Given the description of an element on the screen output the (x, y) to click on. 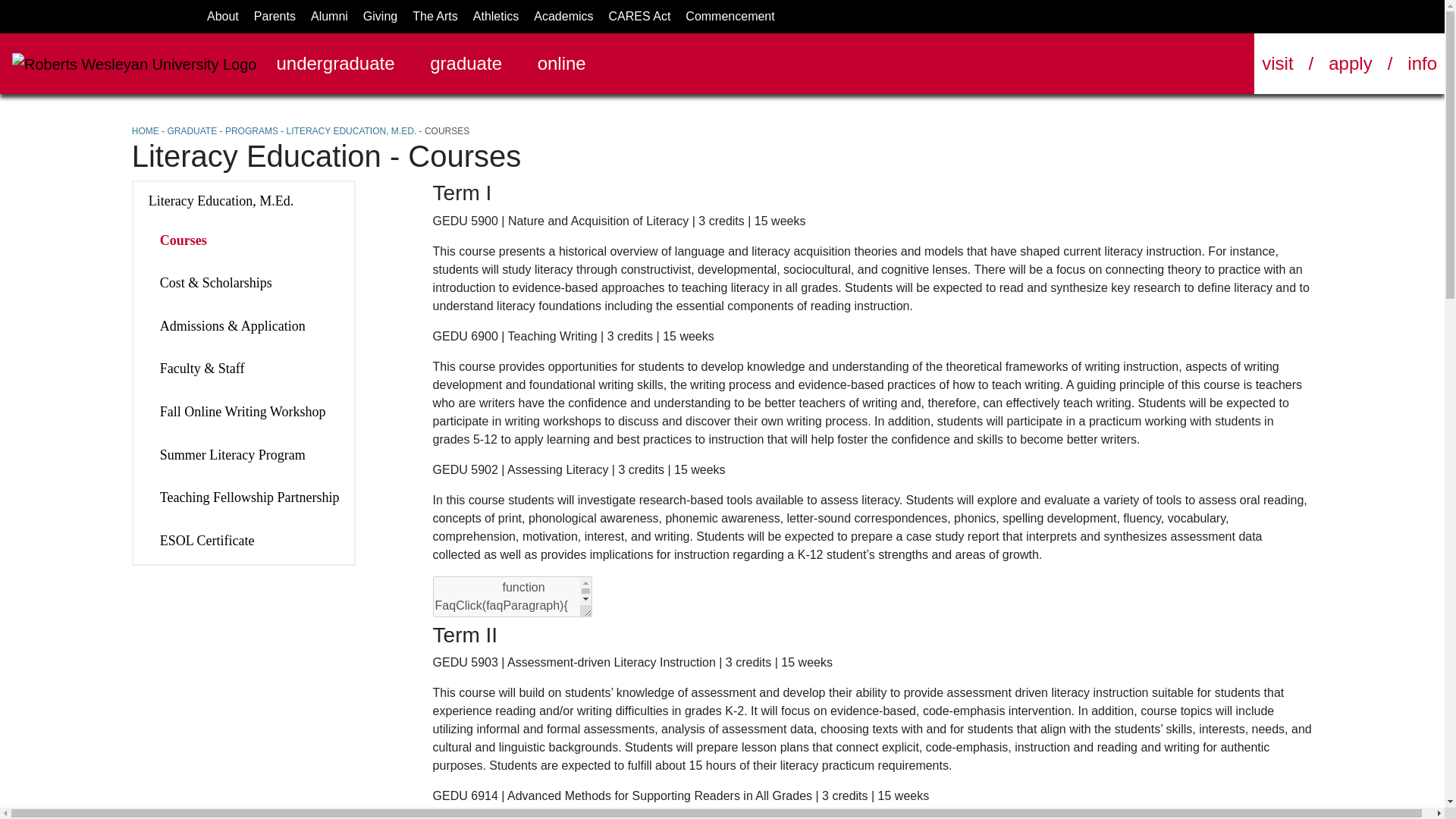
Parents (274, 15)
Click to expand (872, 470)
Giving (379, 15)
CARES Act (639, 15)
Commencement (729, 15)
The Arts (435, 15)
Click to open search for www.roberts.edu (1228, 62)
Click to expand (872, 796)
undergraduate (344, 63)
Click to expand (872, 662)
